Given the description of an element on the screen output the (x, y) to click on. 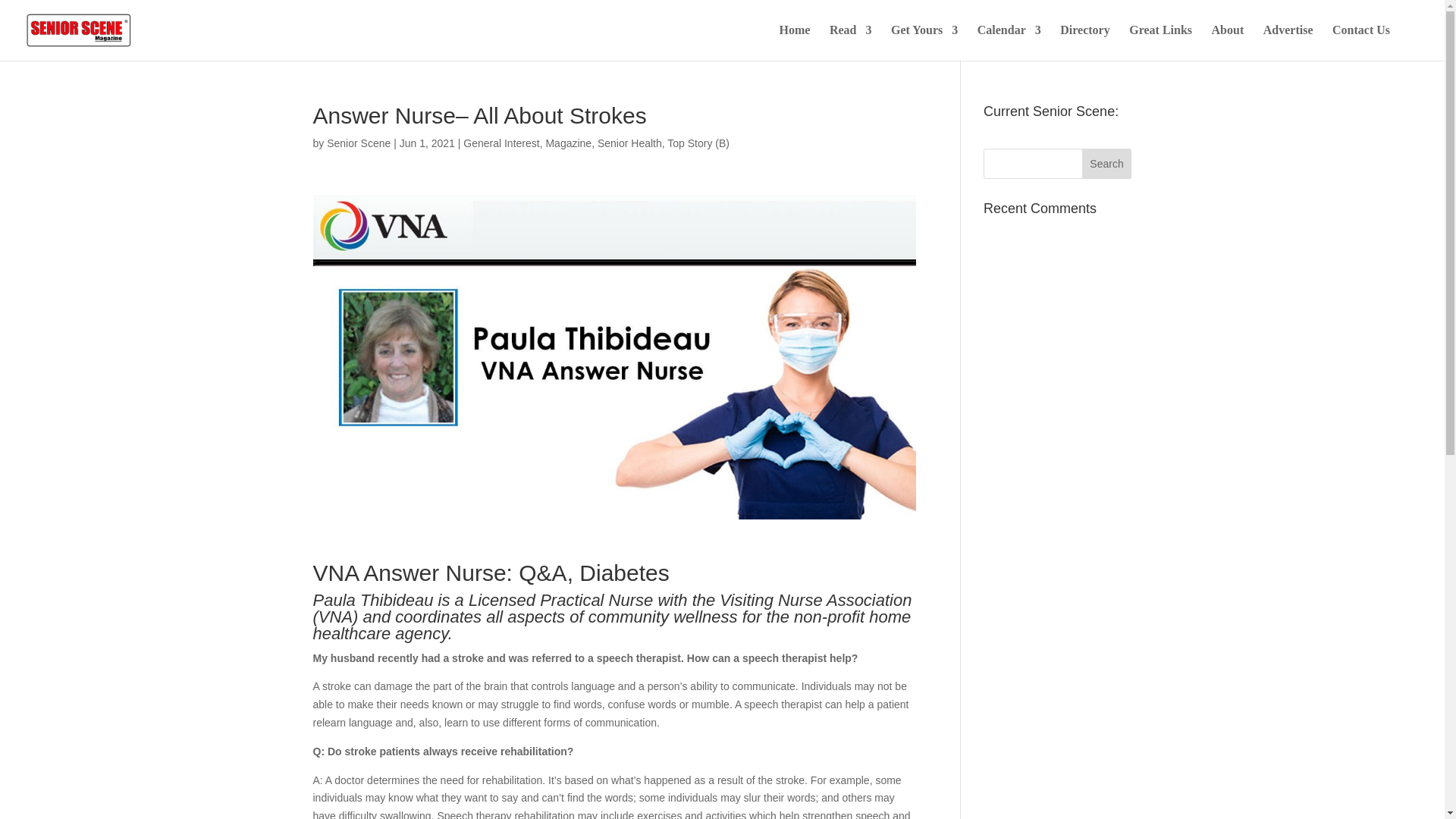
Search (1106, 163)
Read (850, 42)
About (1227, 42)
Magazine (567, 143)
Senior Health (629, 143)
Search (1106, 163)
Calendar (1008, 42)
Great Links (1160, 42)
General Interest (500, 143)
Contact Us (1361, 42)
Get Yours (924, 42)
Advertise (1288, 42)
Directory (1084, 42)
Senior Scene (358, 143)
Posts by Senior Scene (358, 143)
